Given the description of an element on the screen output the (x, y) to click on. 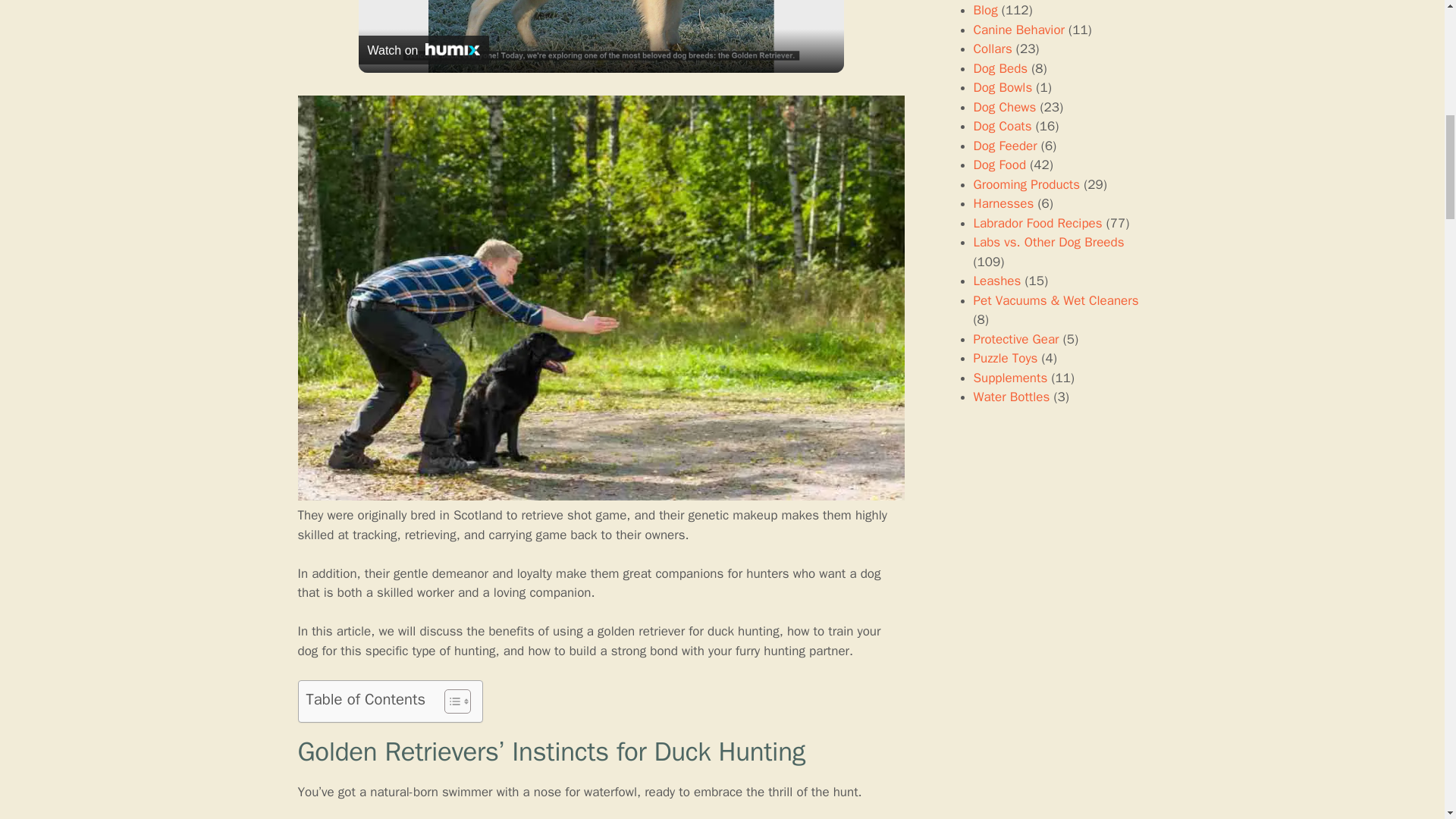
Watch on (422, 50)
